Given the description of an element on the screen output the (x, y) to click on. 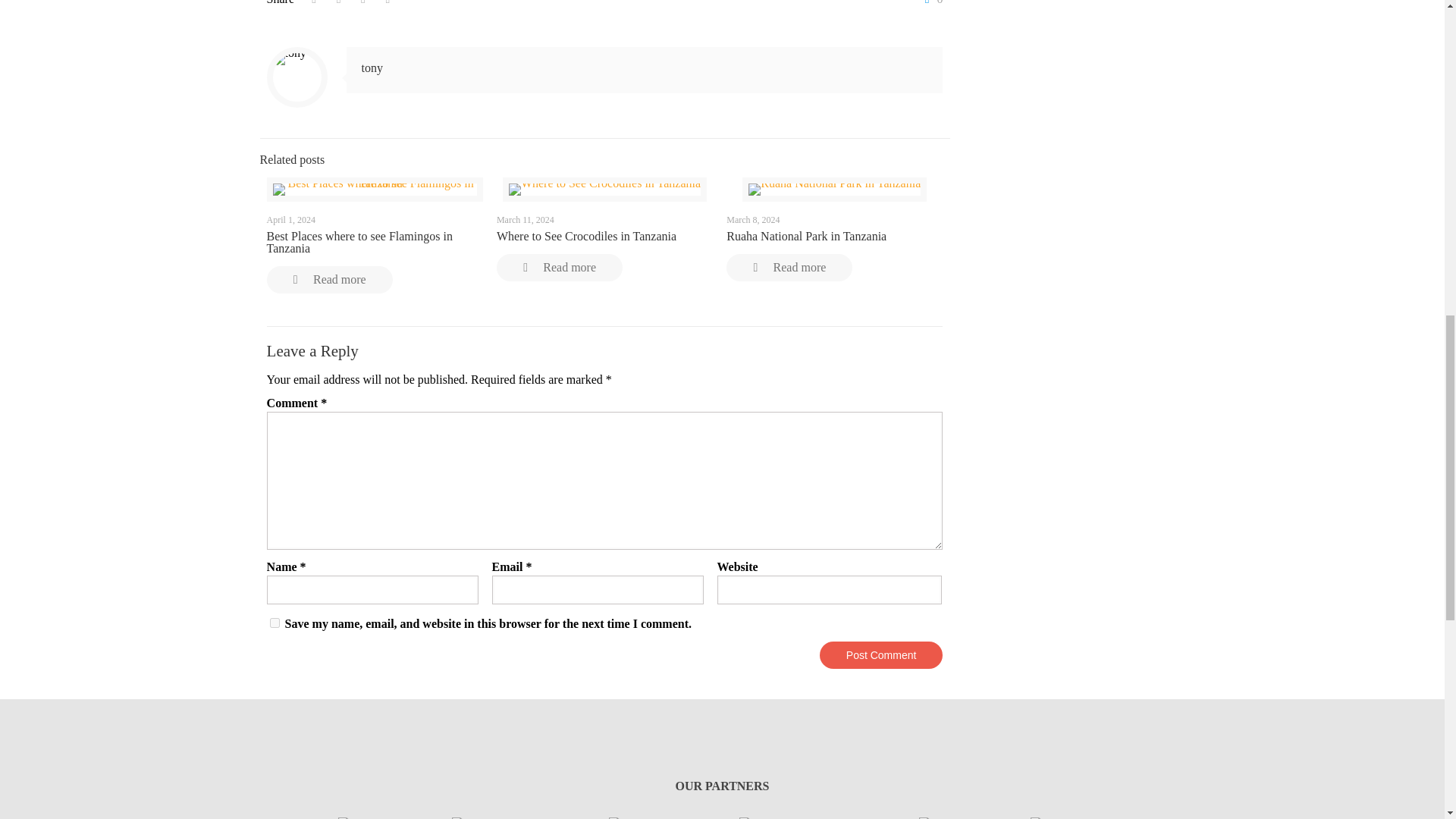
yes (274, 623)
Post Comment (881, 655)
TUGATA (633, 818)
Tourism Uganda (490, 818)
Uganda Wildlife Authority (354, 818)
